Given the description of an element on the screen output the (x, y) to click on. 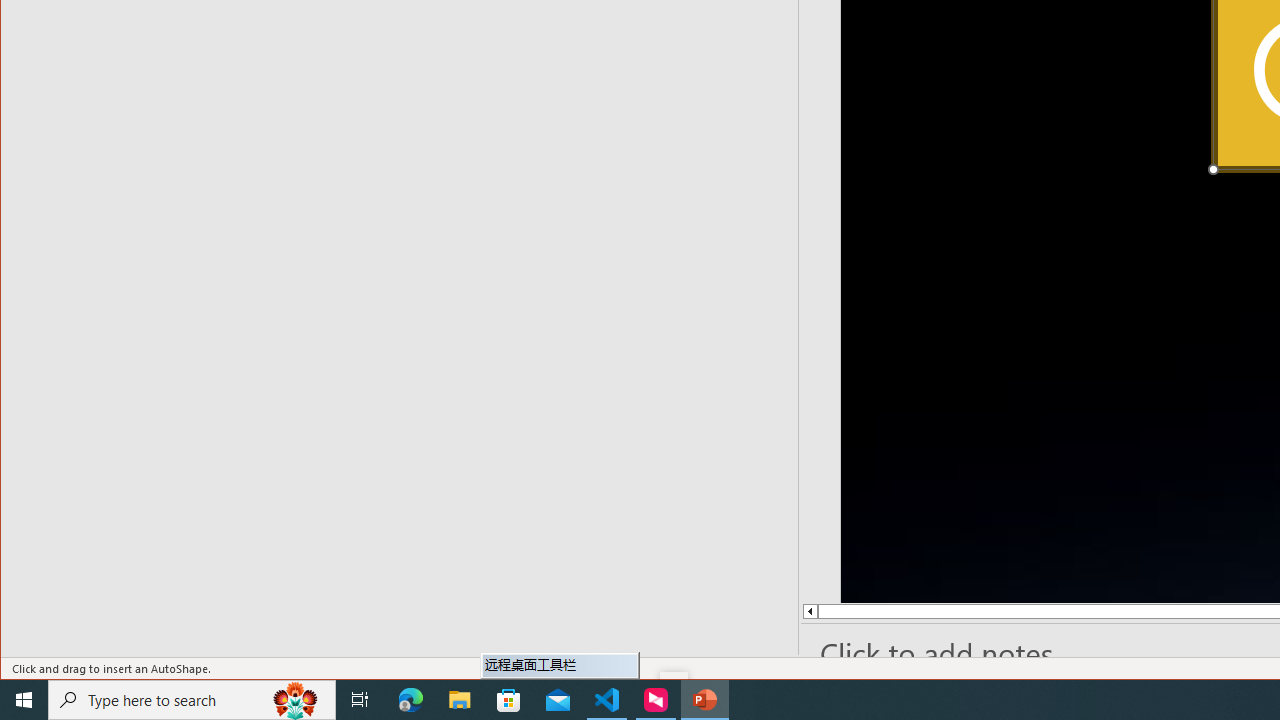
Microsoft Edge (411, 699)
Start (24, 699)
Type here to search (191, 699)
Task View (359, 699)
Visual Studio Code - 1 running window (607, 699)
File Explorer (460, 699)
PowerPoint - 1 running window (704, 699)
Search highlights icon opens search home window (295, 699)
Microsoft Store (509, 699)
